Given the description of an element on the screen output the (x, y) to click on. 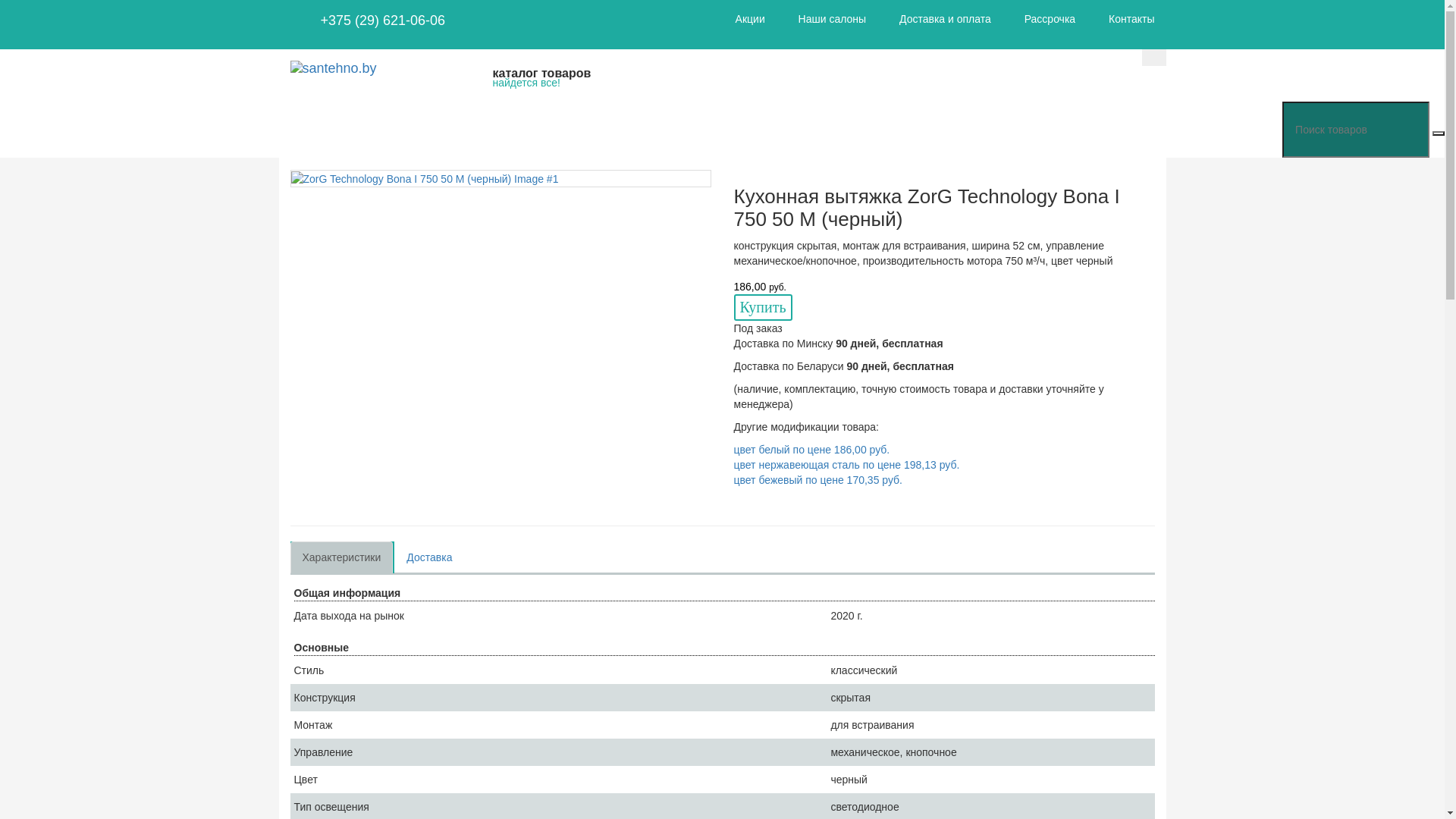
+375 (29) 621-06-06 Element type: text (382, 20)
